Given the description of an element on the screen output the (x, y) to click on. 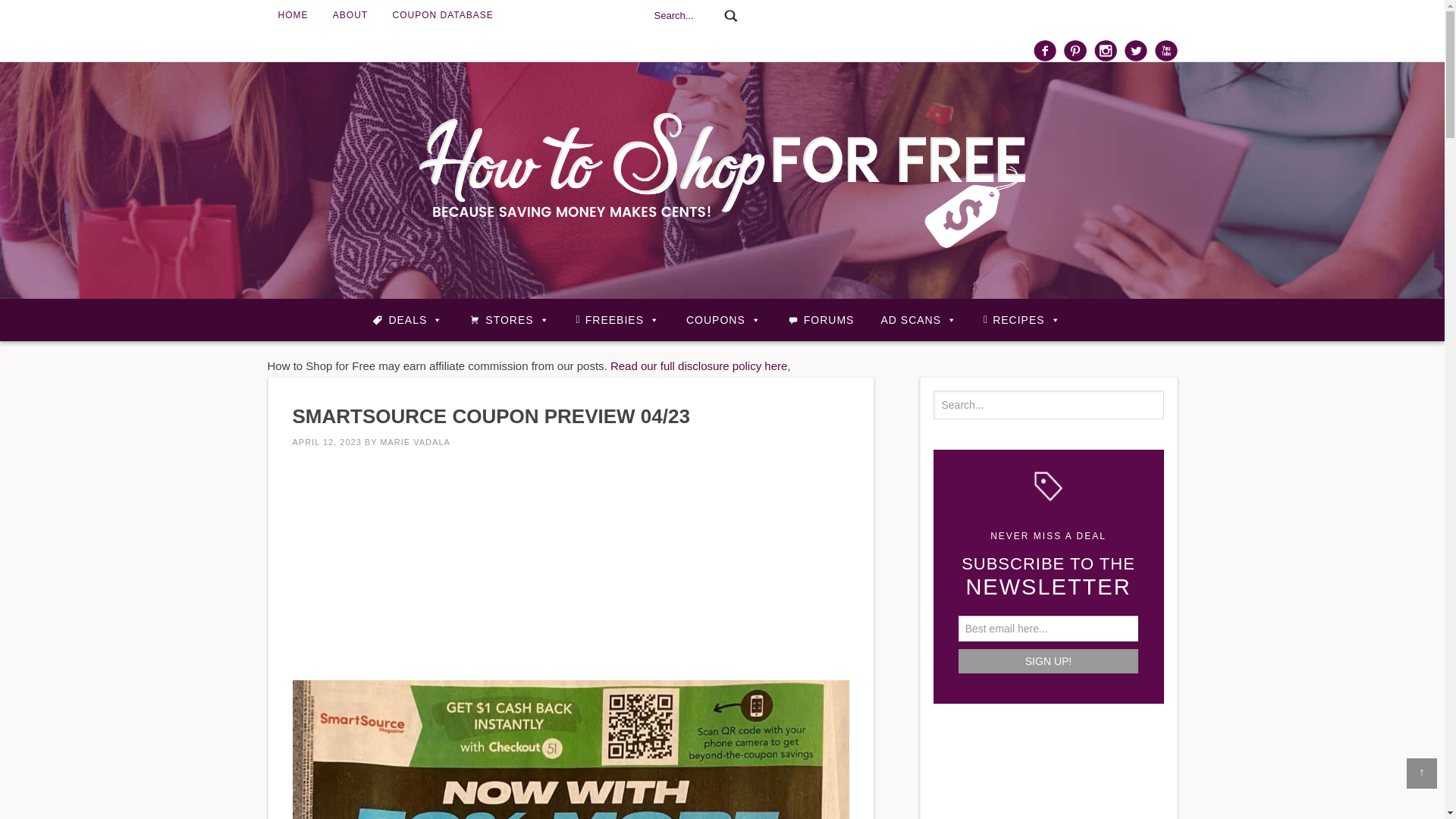
HOW TO SHOP FOR FREE (722, 180)
FREEBIES (617, 319)
ABOUT (349, 15)
COUPON DATABASE (442, 15)
STORES (508, 319)
DEALS (407, 319)
Sign Up! (1048, 661)
HOME (292, 15)
